Given the description of an element on the screen output the (x, y) to click on. 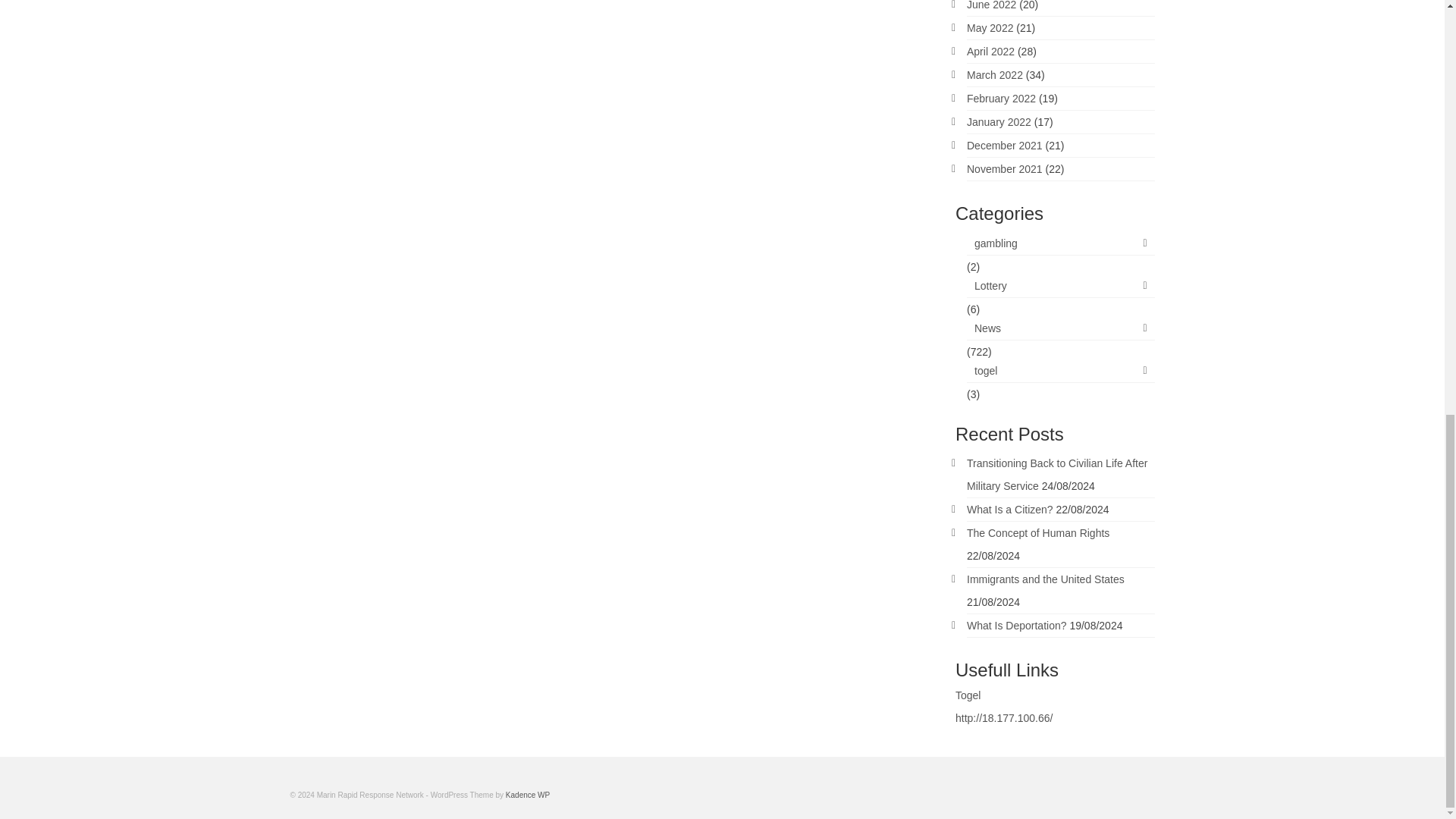
March 2022 (994, 74)
April 2022 (990, 51)
May 2022 (989, 28)
June 2022 (991, 5)
February 2022 (1000, 98)
